Given the description of an element on the screen output the (x, y) to click on. 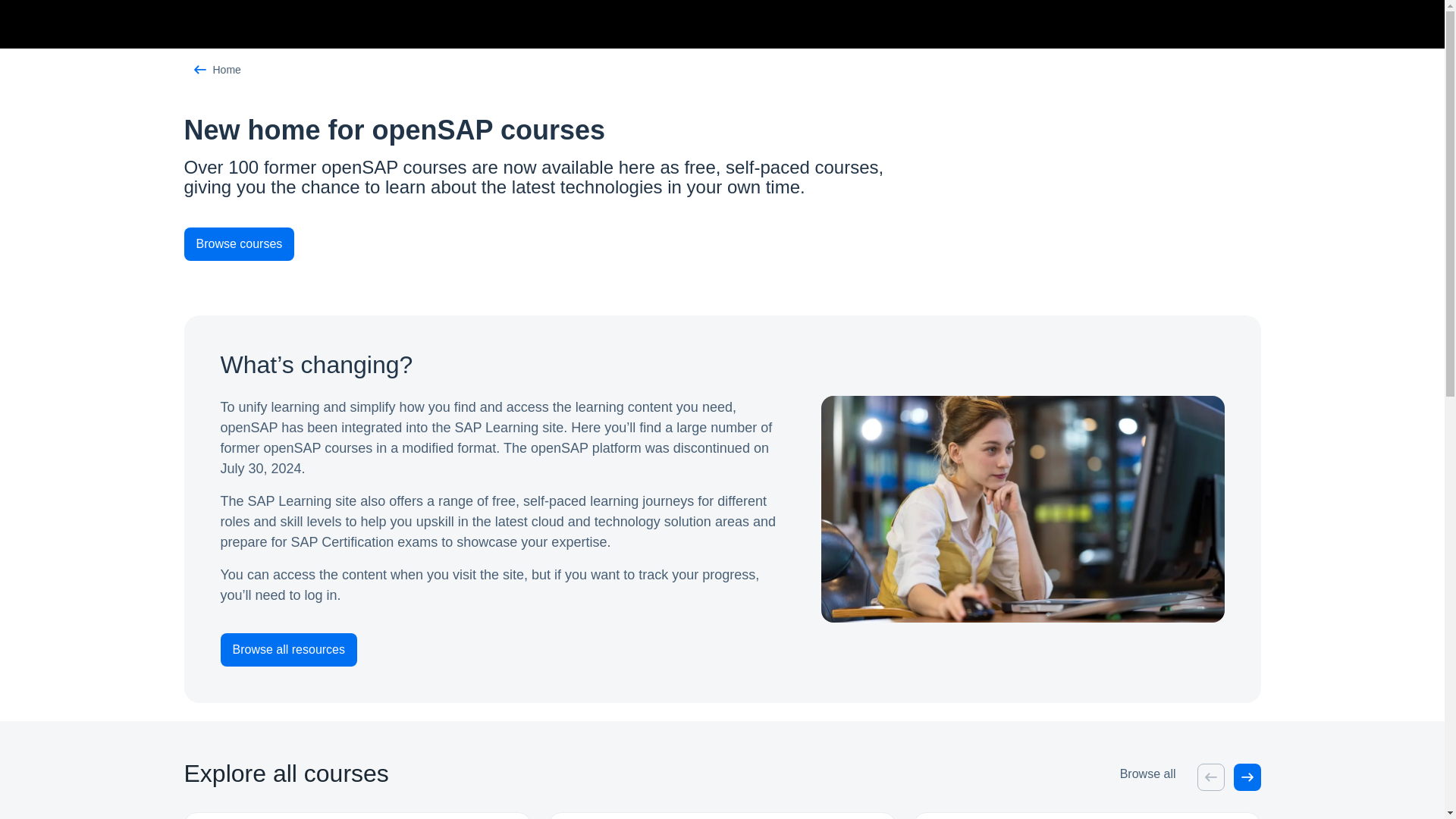
Show next module (1246, 777)
Show previous module (1210, 777)
Back to Home (721, 69)
Browse courses (539, 244)
Browse all resources (287, 649)
Home (721, 69)
Browse all (1148, 774)
